Given the description of an element on the screen output the (x, y) to click on. 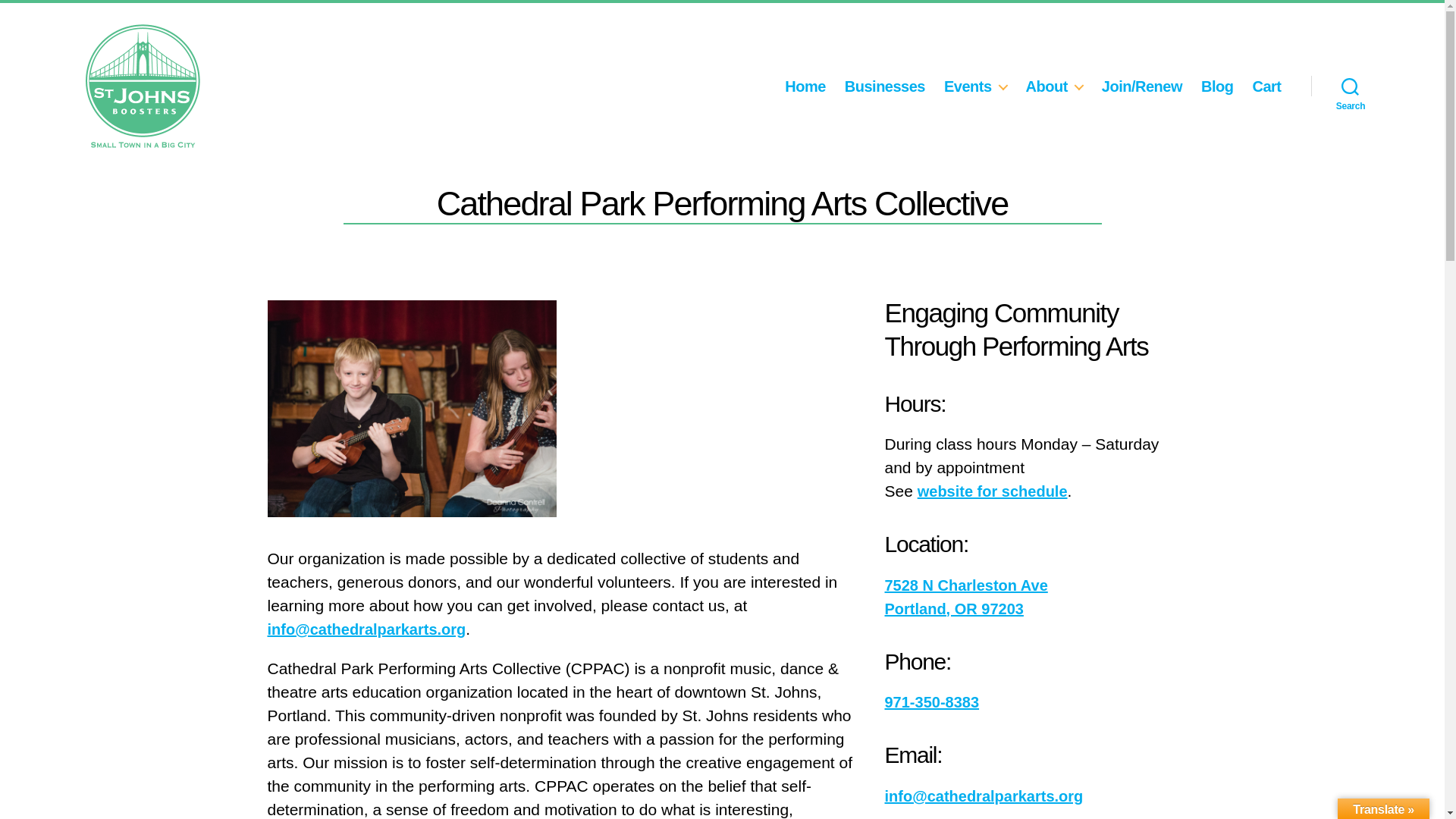
Blog (1217, 85)
Businesses (884, 85)
Home (804, 85)
Cart (1266, 85)
About (1054, 85)
Events (975, 85)
Search (1350, 86)
